Given the description of an element on the screen output the (x, y) to click on. 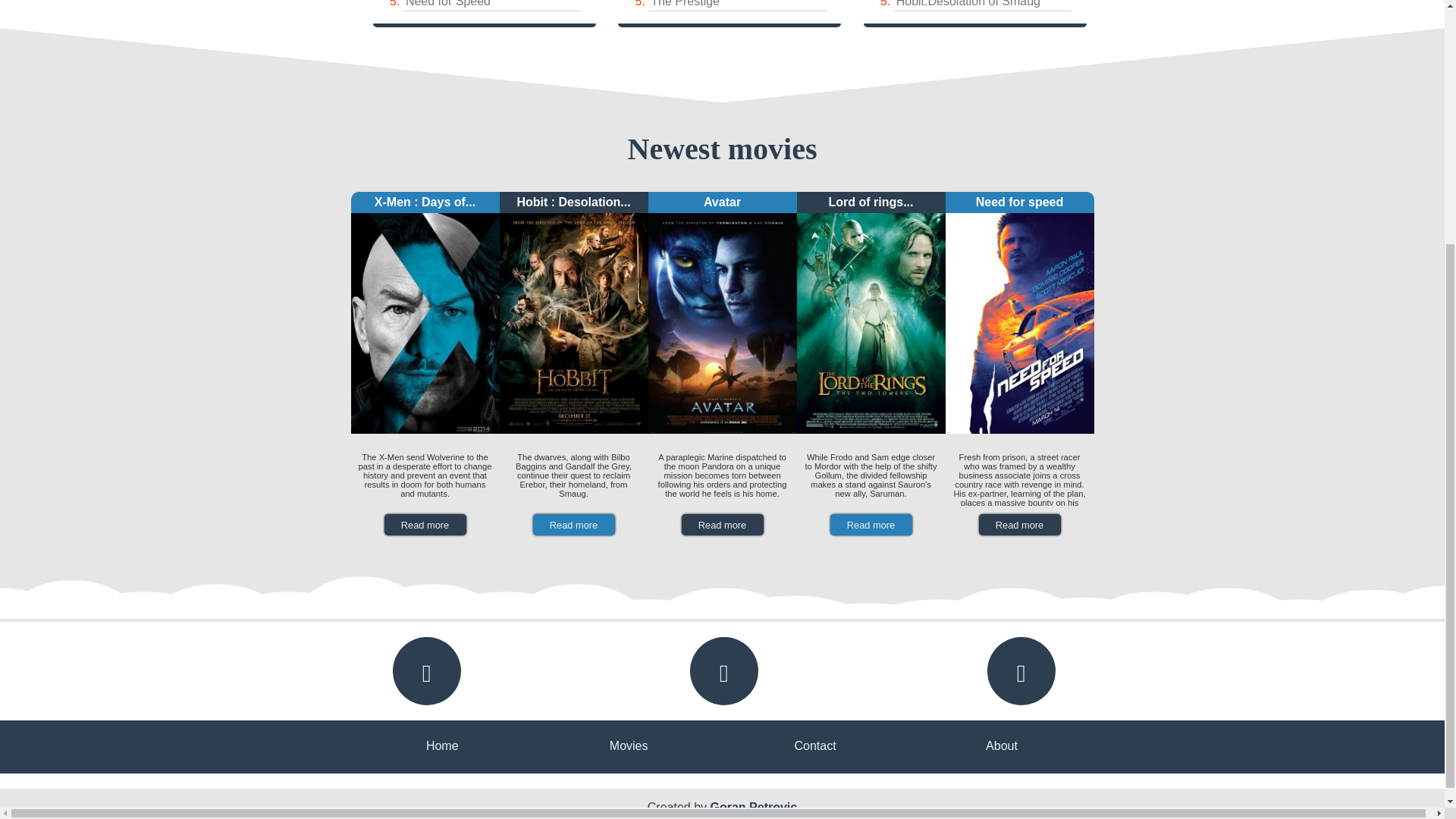
Read more (1019, 524)
Read more (424, 524)
The Prestige (684, 3)
Hobit:Desolation of Smaug (968, 3)
Read more (721, 524)
Read more (871, 524)
Goran Petrovic (753, 807)
Read more (573, 524)
Need for Speed (448, 3)
